Given the description of an element on the screen output the (x, y) to click on. 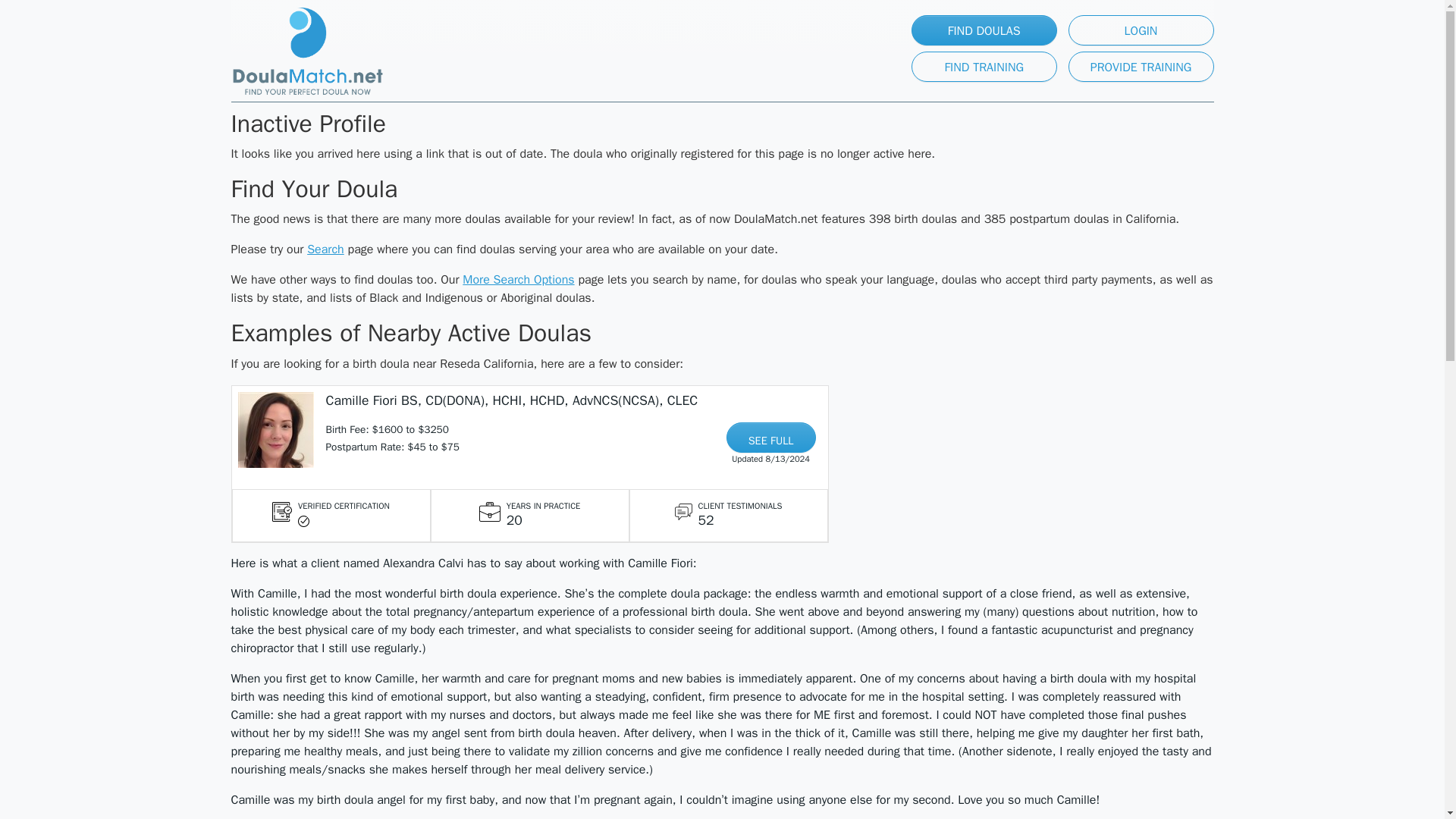
More Search Options (518, 279)
LOGIN (1139, 30)
PROVIDE TRAINING (1139, 66)
FIND TRAINING (984, 66)
Search (325, 249)
FIND DOULAS (984, 30)
SEE FULL PROFILE (770, 437)
